Given the description of an element on the screen output the (x, y) to click on. 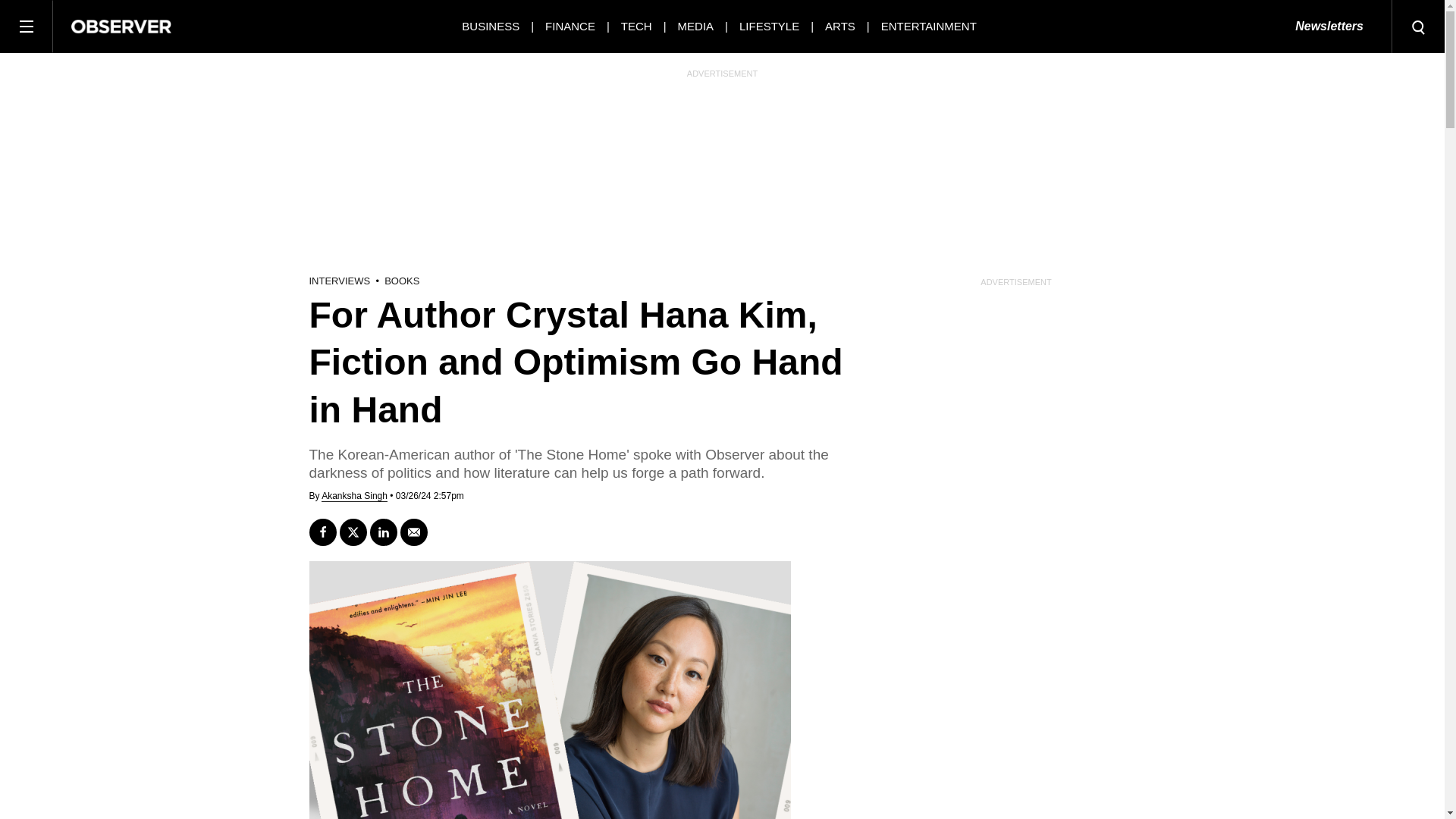
View All Posts by Akanksha Singh (354, 496)
Tweet (352, 532)
MEDIA (696, 25)
ENTERTAINMENT (928, 25)
Observer (121, 26)
LIFESTYLE (769, 25)
BUSINESS (490, 25)
FINANCE (569, 25)
ARTS (840, 25)
TECH (636, 25)
